Given the description of an element on the screen output the (x, y) to click on. 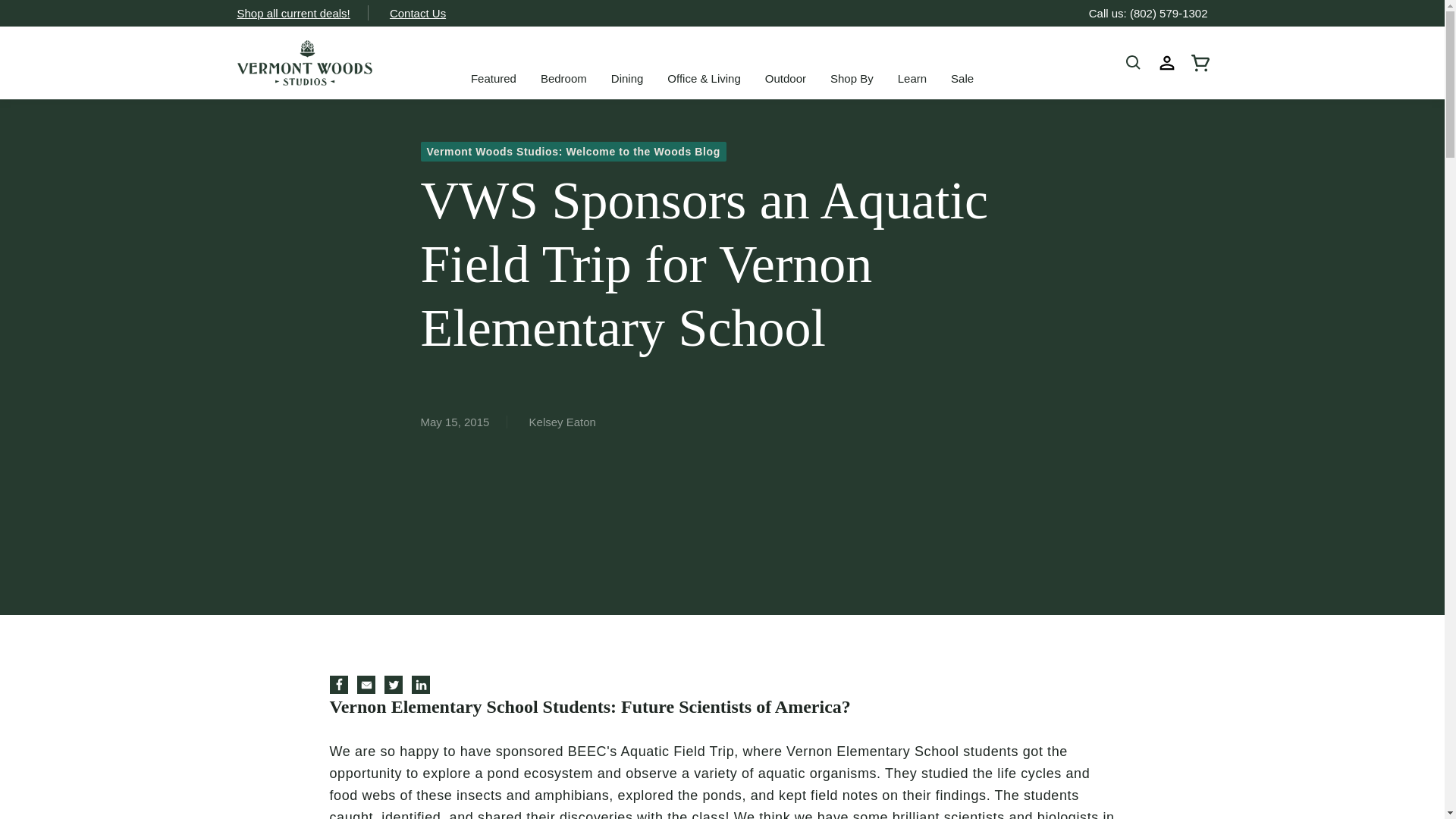
Contact Us (417, 12)
Shop all current deals! (292, 12)
Skip to content (45, 17)
Contact Us (417, 12)
